Given the description of an element on the screen output the (x, y) to click on. 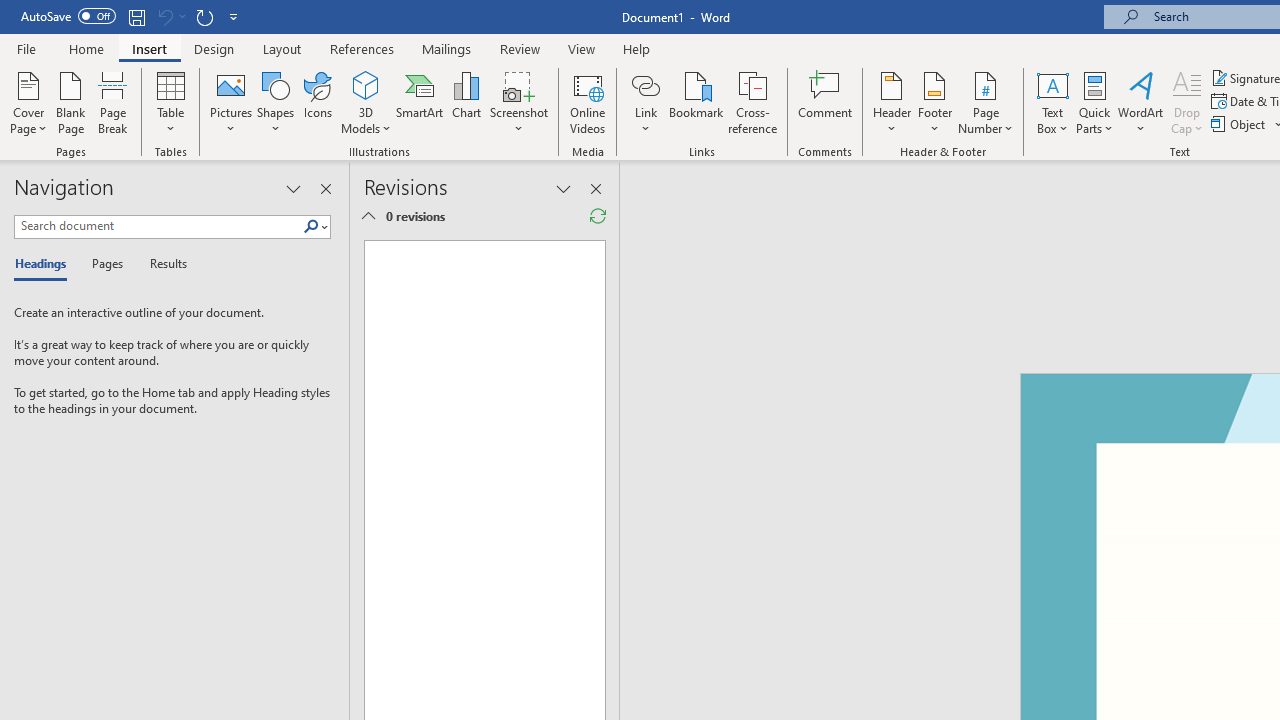
Search document (157, 226)
Text Box (1052, 102)
Task Pane Options (293, 188)
Online Videos... (588, 102)
Link (645, 102)
Pages (105, 264)
